Given the description of an element on the screen output the (x, y) to click on. 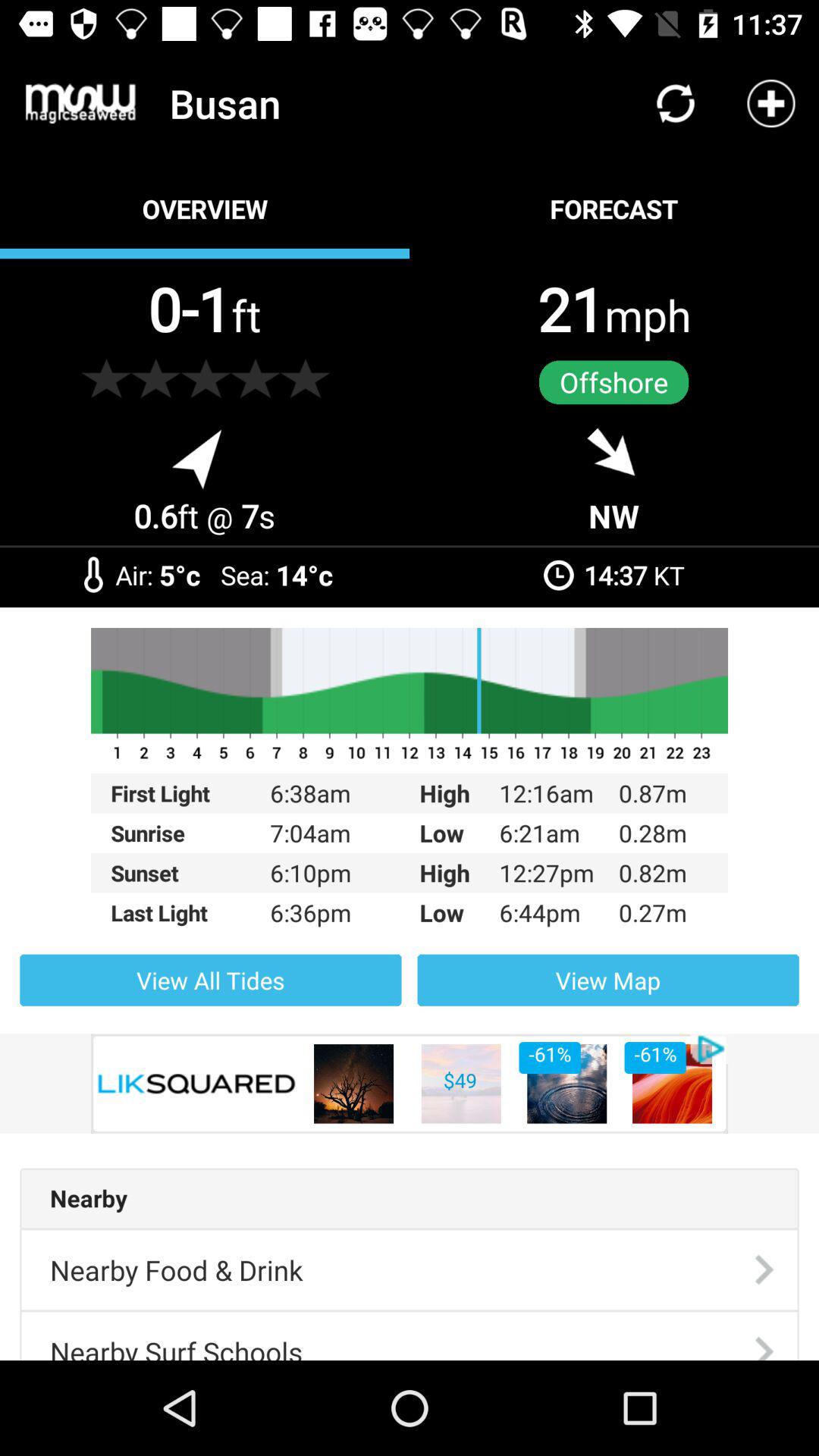
choose the item to the right of the air:  icon (179, 574)
